Given the description of an element on the screen output the (x, y) to click on. 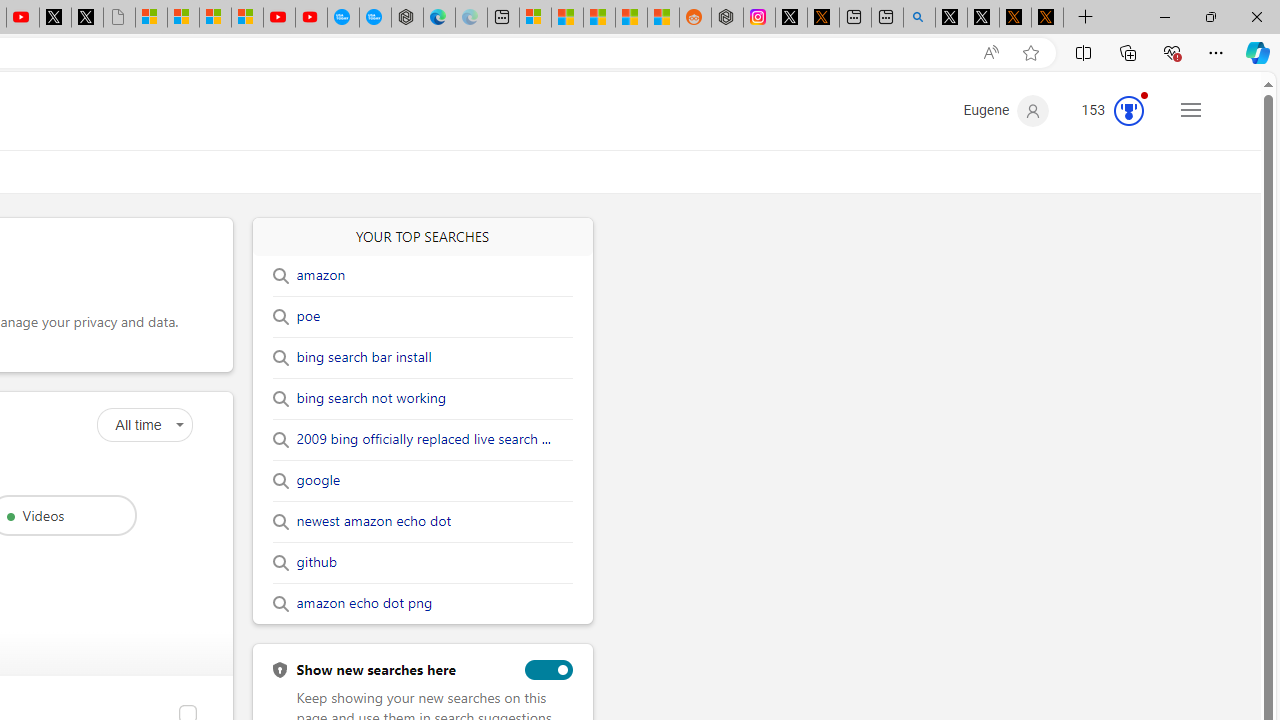
Collections (1128, 52)
GitHub (@github) / X (983, 17)
2009 bing officially replaced live search ... (422, 439)
bing search not working (370, 398)
Class: dropdown__chevron (179, 425)
X Privacy Policy (1047, 17)
poe (308, 316)
Settings and quick links (1190, 109)
Nordace - Summer Adventures 2024 (727, 17)
Shanghai, China hourly forecast | Microsoft Weather (599, 17)
bing search bar install (363, 357)
github (315, 562)
